Given the description of an element on the screen output the (x, y) to click on. 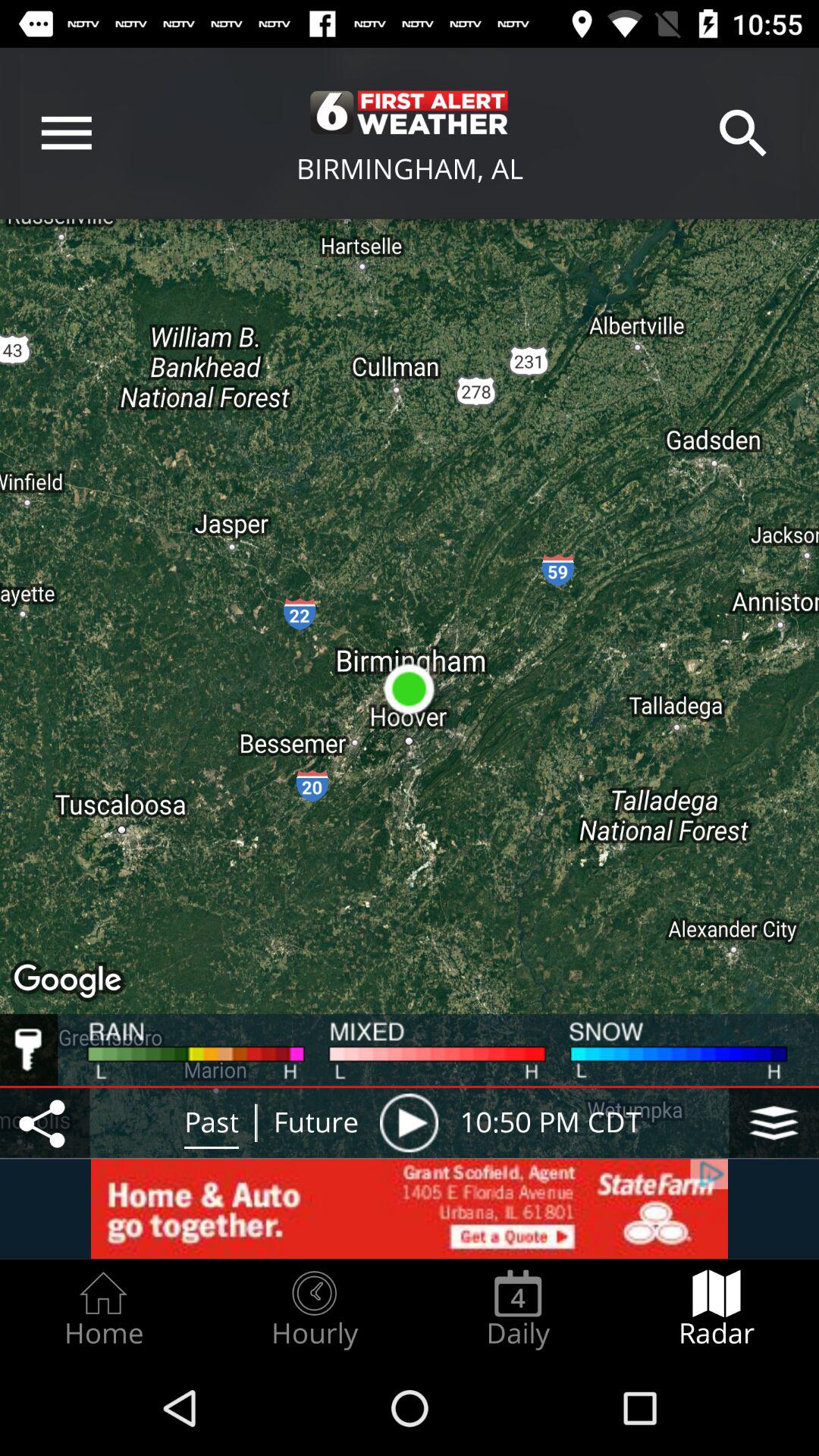
turn off the icon to the left of daily (314, 1309)
